Given the description of an element on the screen output the (x, y) to click on. 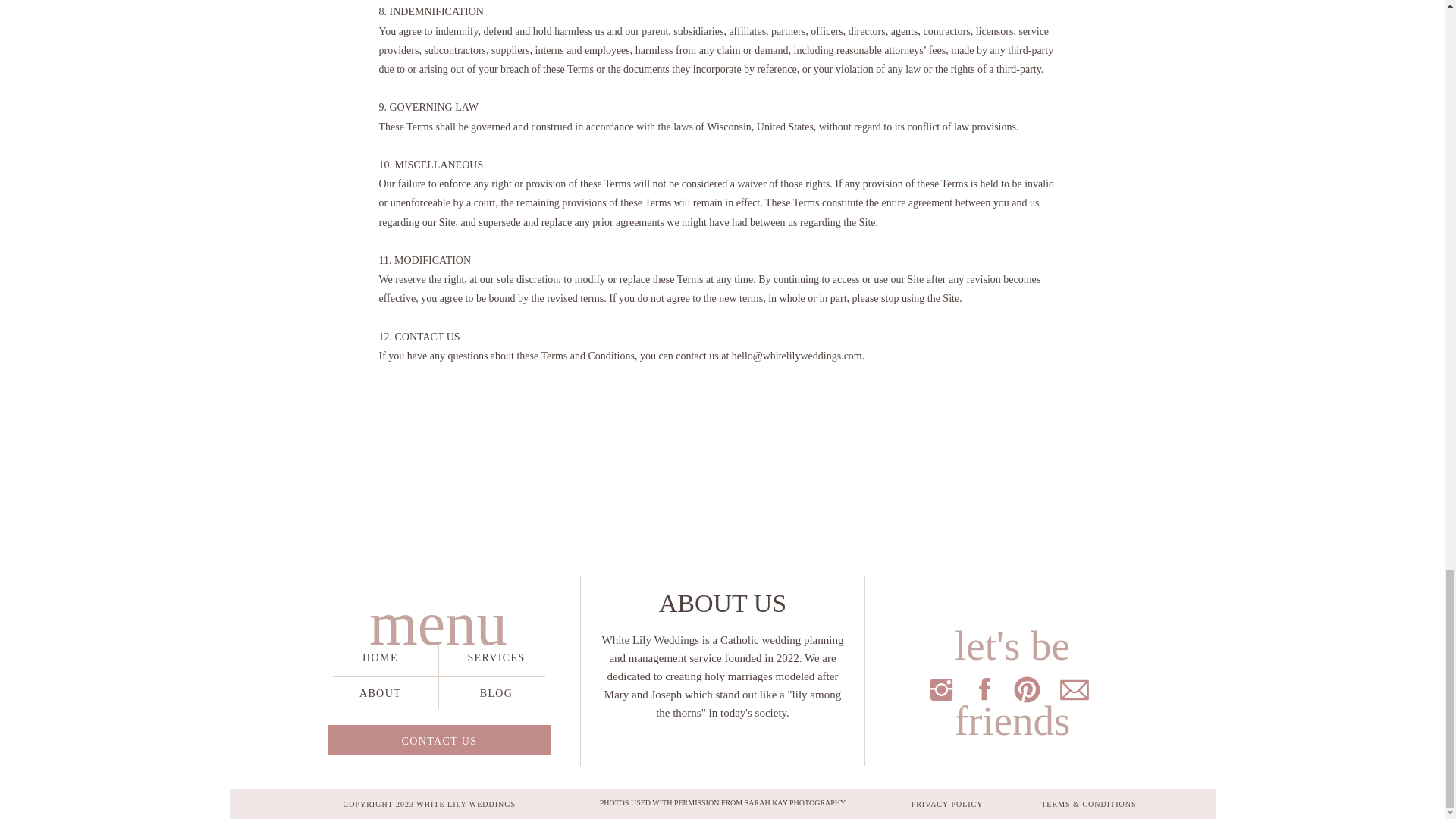
BLOG (495, 692)
PRIVACY POLICY (911, 803)
PHOTOS USED WITH PERMISSION FROM SARAH KAY PHOTOGRAPHY (722, 802)
COPYRIGHT 2023 WHITE LILY WEDDINGS (456, 803)
CONTACT US (439, 740)
HOME (380, 656)
ABOUT (380, 692)
SERVICES (495, 656)
